Given the description of an element on the screen output the (x, y) to click on. 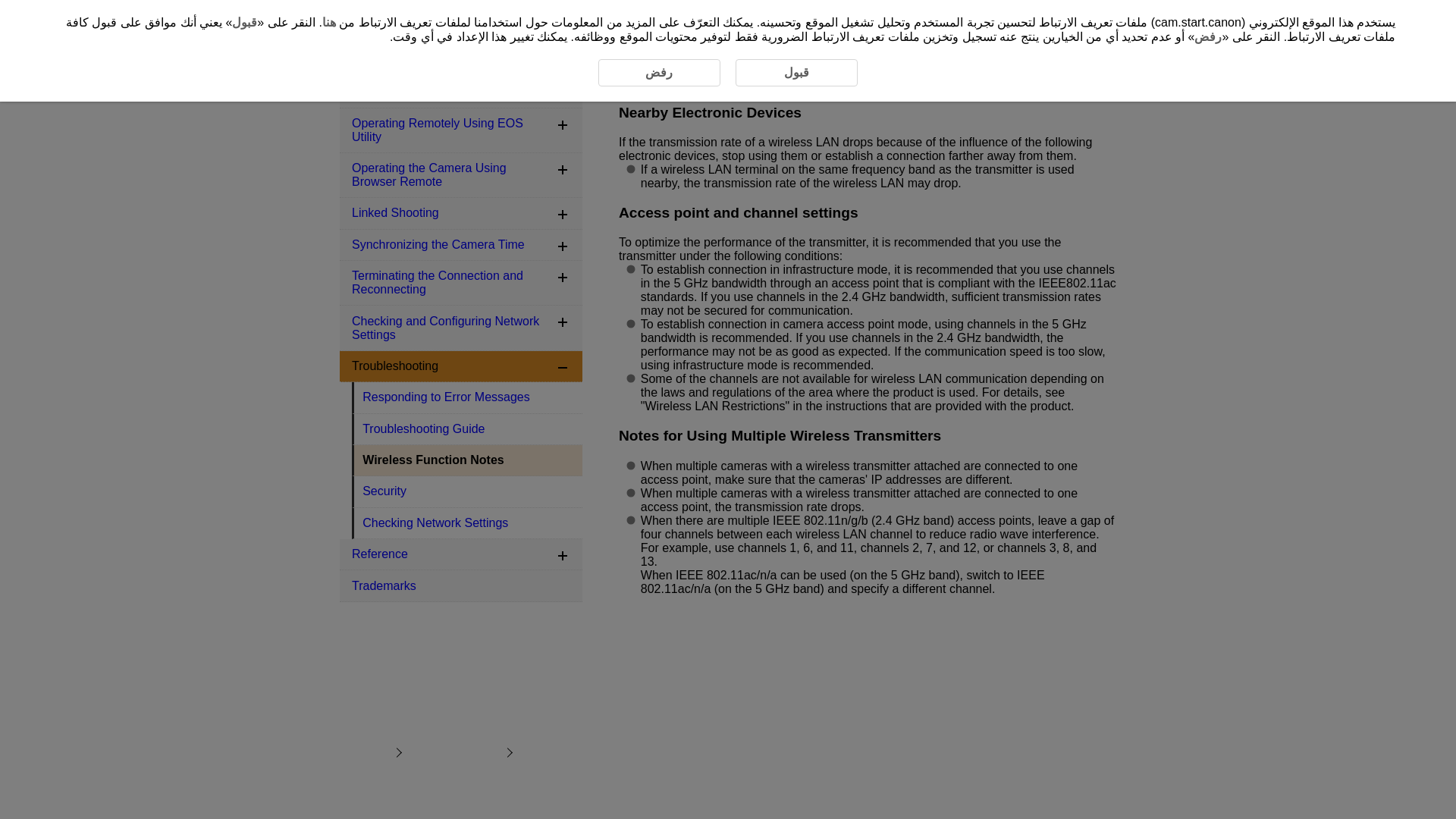
Operating Remotely Using EOS Utility (460, 130)
Basic Network Settings (460, 47)
Introduction (460, 15)
Transferring Images to an FTP Server (460, 85)
